Given the description of an element on the screen output the (x, y) to click on. 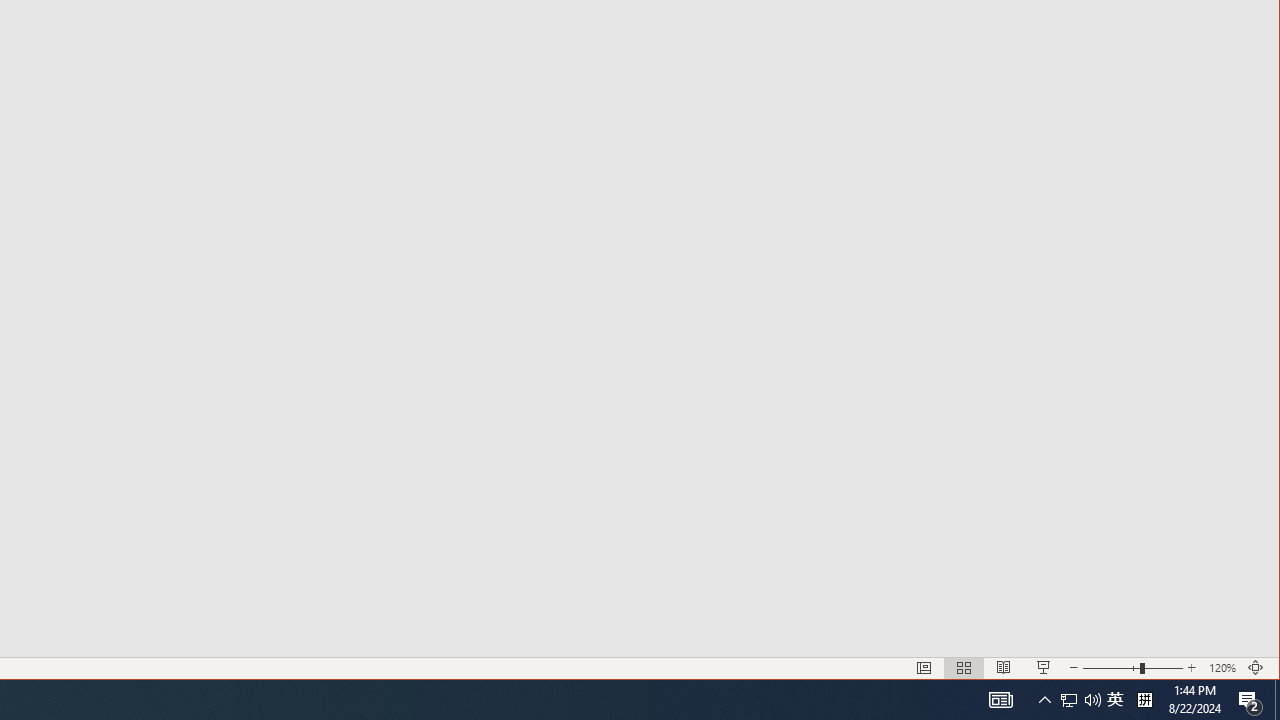
Notification Chevron (1044, 699)
Show desktop (1277, 699)
AutomationID: 4105 (1000, 699)
User Promoted Notification Area (1080, 699)
Zoom 120% (1222, 668)
Q2790: 100% (1092, 699)
